Given the description of an element on the screen output the (x, y) to click on. 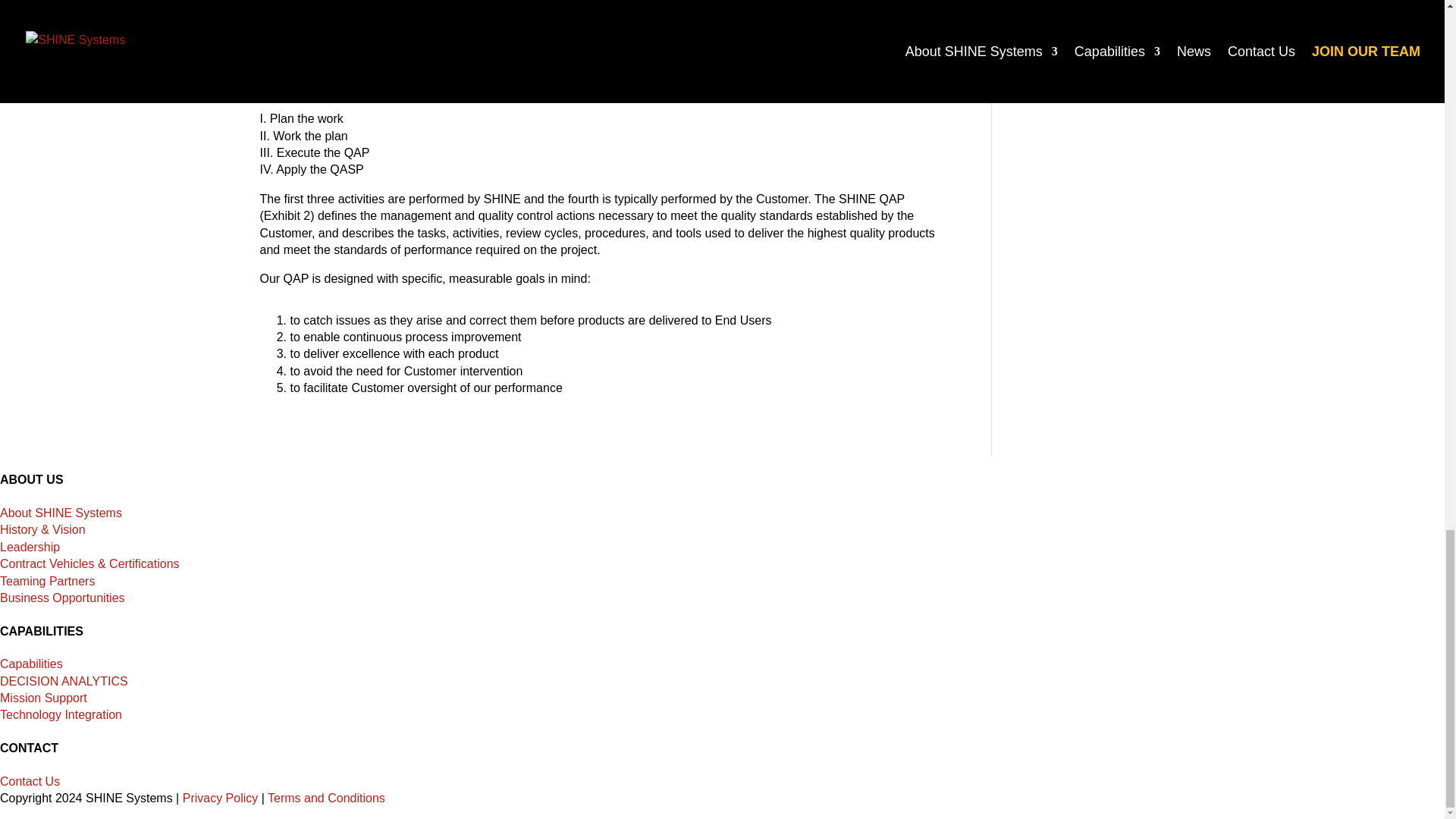
Contact Us (29, 780)
Business Opportunities (62, 597)
Capabilities (31, 663)
Mission Support (43, 697)
Leadership (29, 546)
Terms and Conditions (326, 797)
Privacy Policy (221, 797)
Technology Integration (61, 714)
DECISION ANALYTICS (64, 680)
